Given the description of an element on the screen output the (x, y) to click on. 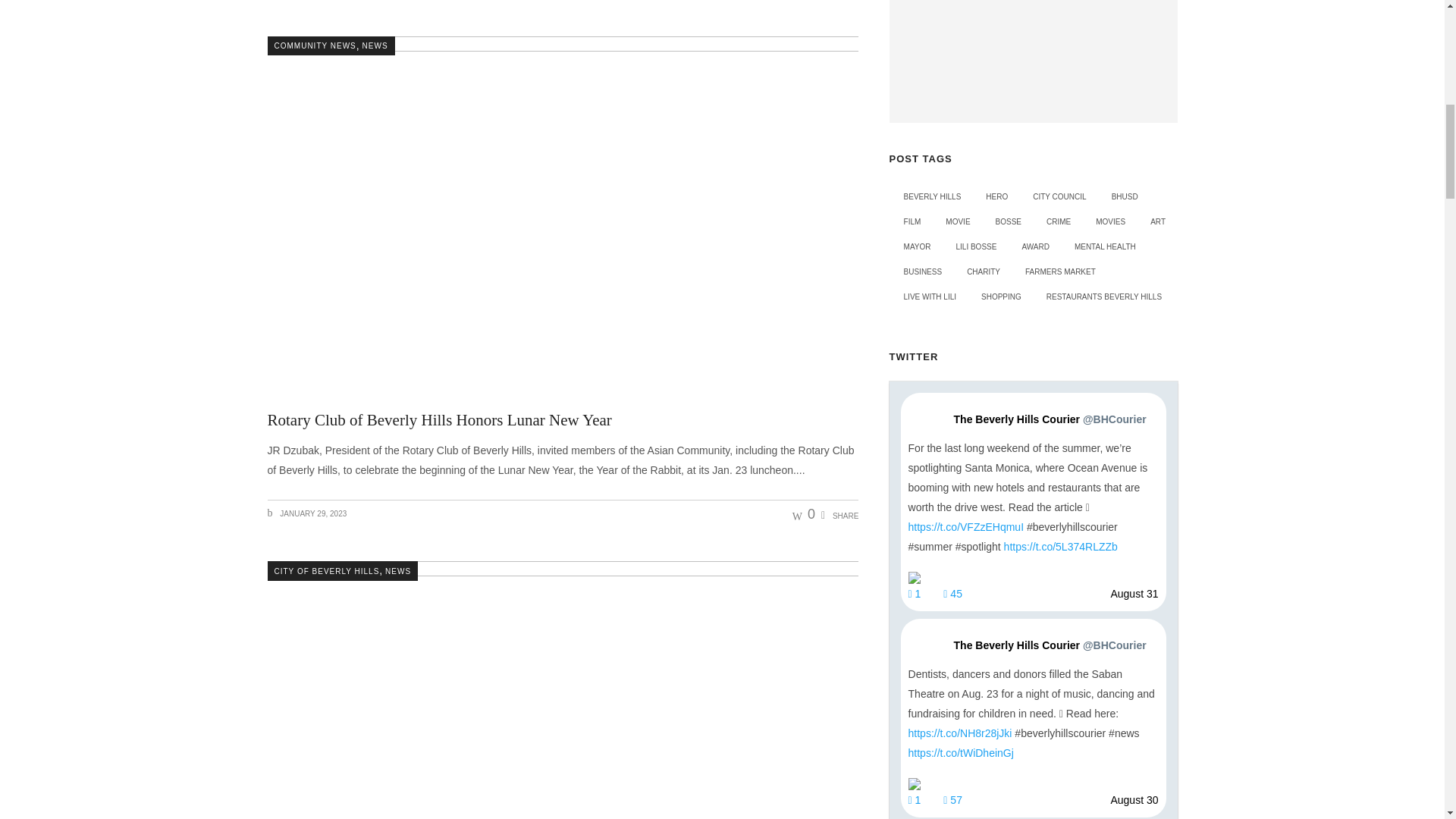
Rotary Club of Beverly Hills Honors Lunar New Year (438, 420)
Like this (803, 513)
